Given the description of an element on the screen output the (x, y) to click on. 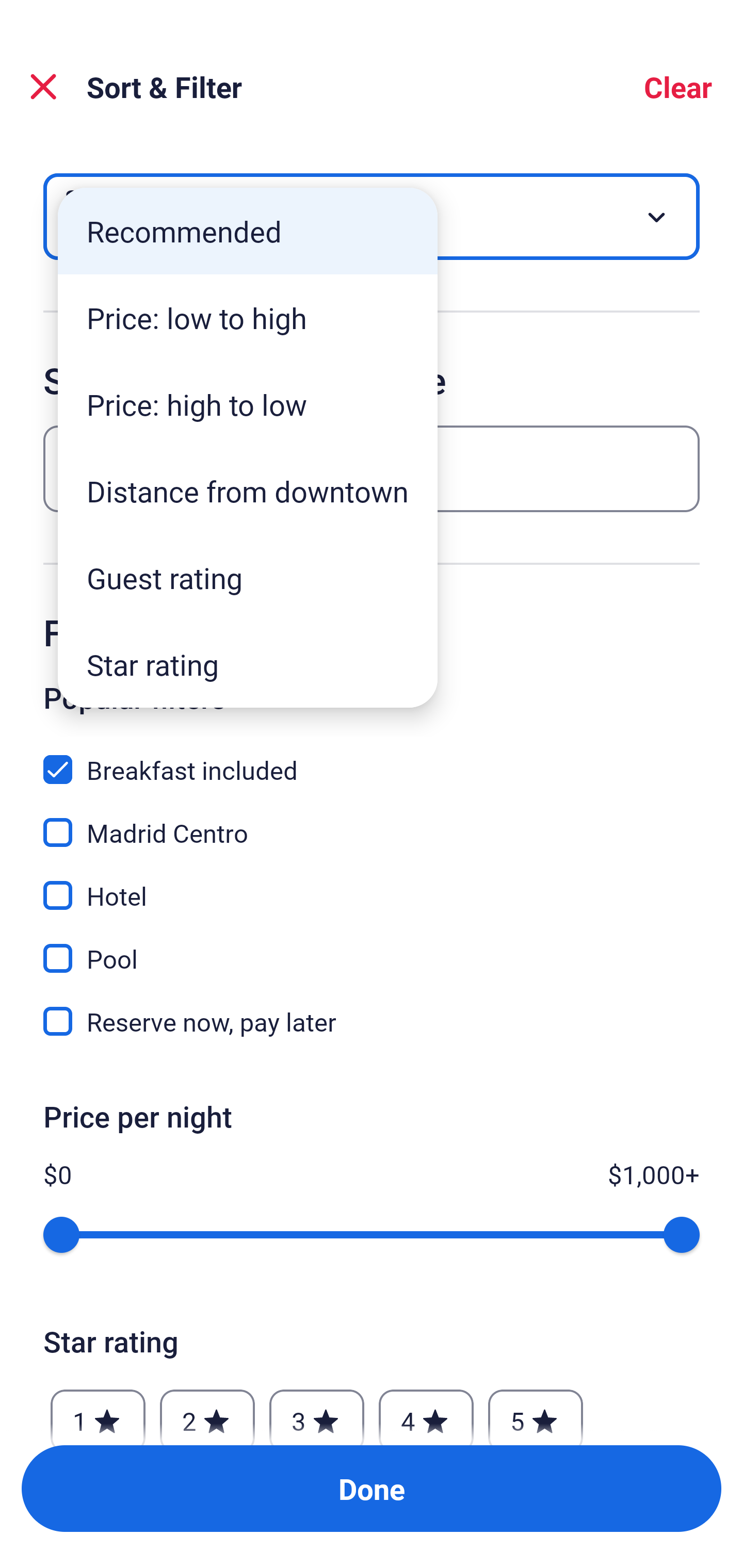
Price: low to high (247, 317)
Price: high to low (247, 404)
Distance from downtown (247, 491)
Guest rating (247, 577)
Star rating (247, 663)
